Given the description of an element on the screen output the (x, y) to click on. 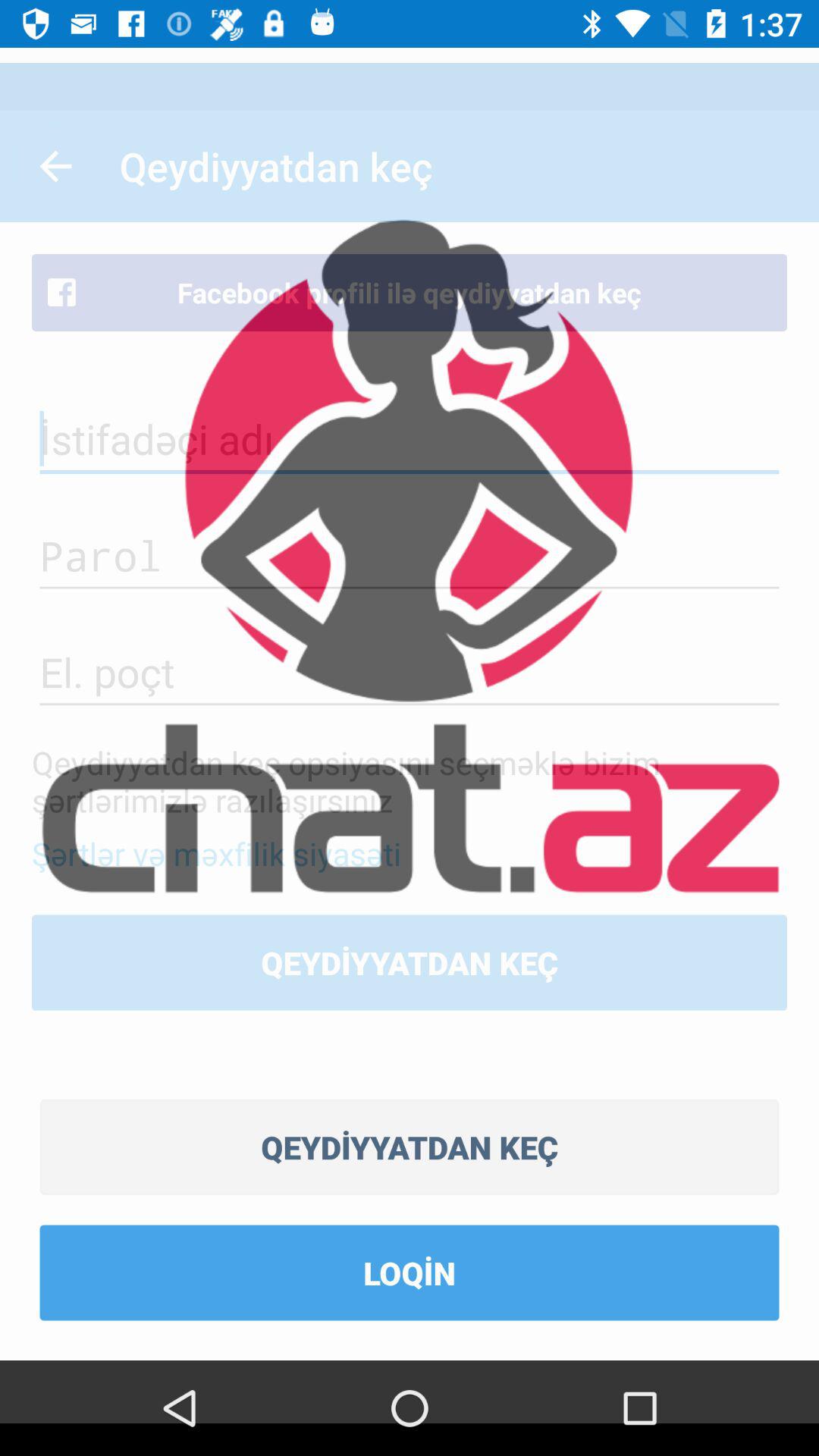
turn on the item above loqin icon (409, 1146)
